Given the description of an element on the screen output the (x, y) to click on. 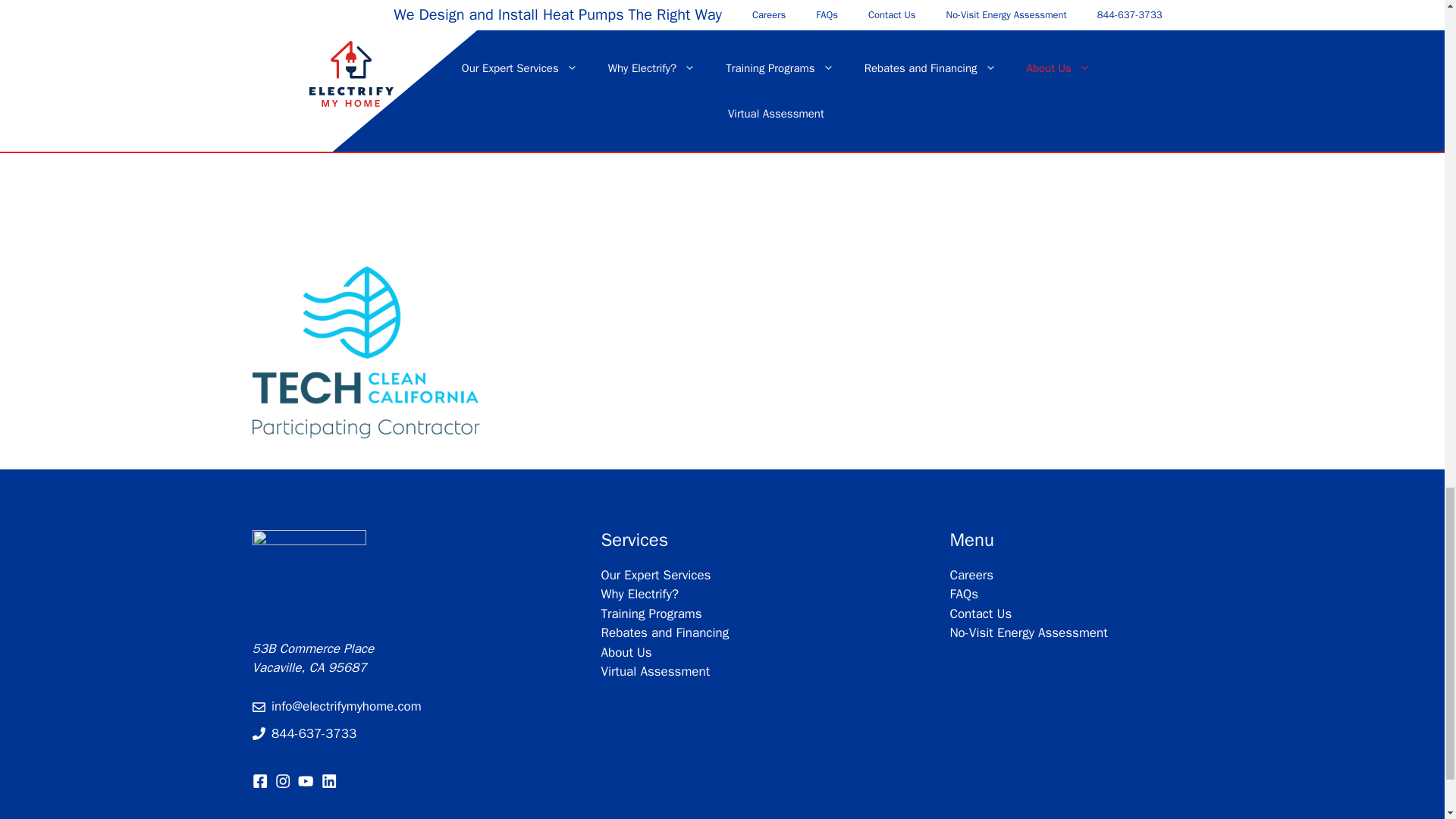
Scroll back to top (1406, 166)
Tech-Clean-California-300x228-1.png (365, 352)
Group 972 (308, 574)
